Given the description of an element on the screen output the (x, y) to click on. 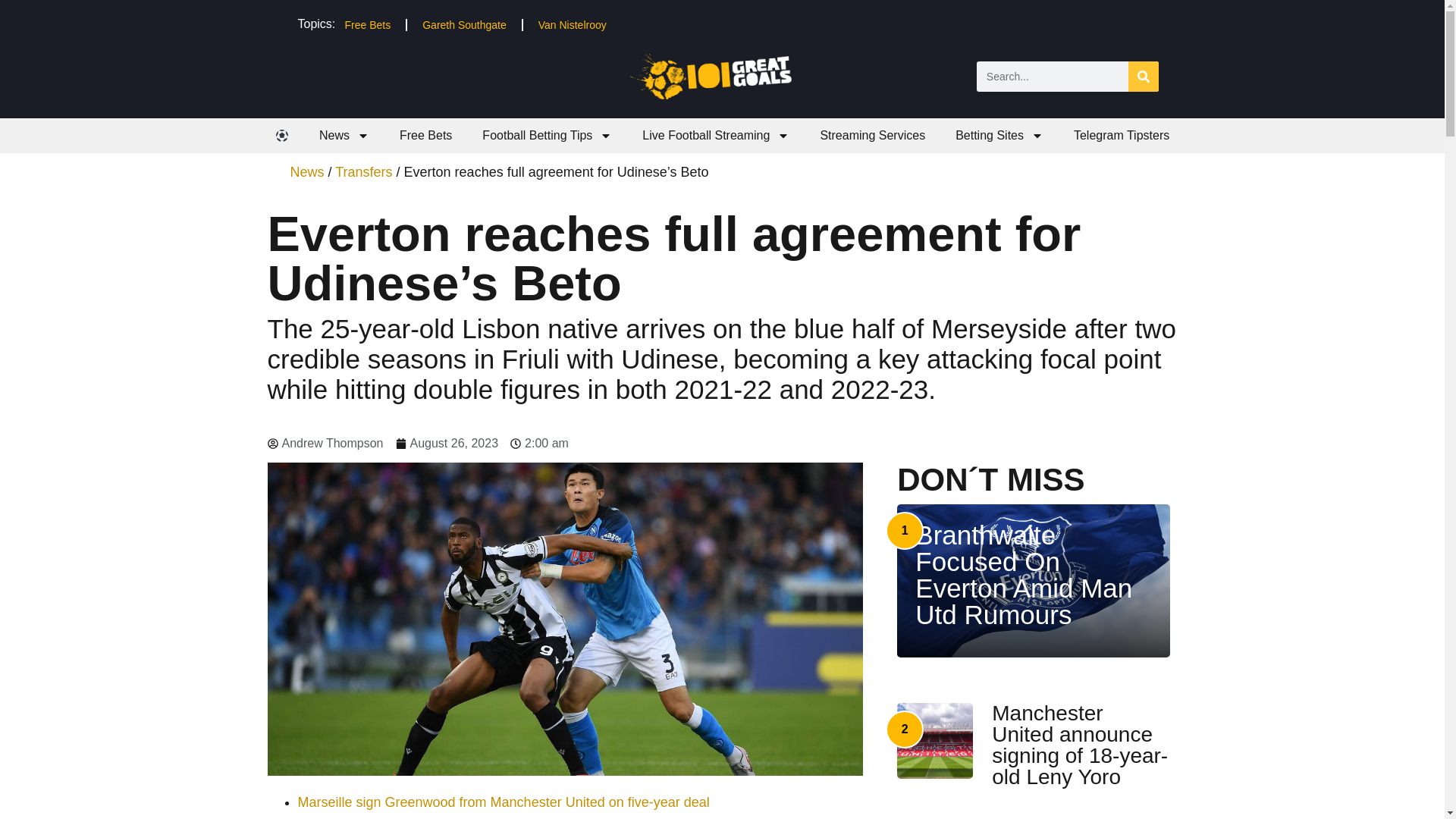
Football Betting Tips (547, 135)
Live Football Streaming (716, 135)
Streaming Services (872, 135)
News (344, 135)
Free Bets (425, 135)
Van Nistelrooy (571, 24)
Betting Sites (999, 135)
Free Bets (367, 24)
Gareth Southgate (464, 24)
